Given the description of an element on the screen output the (x, y) to click on. 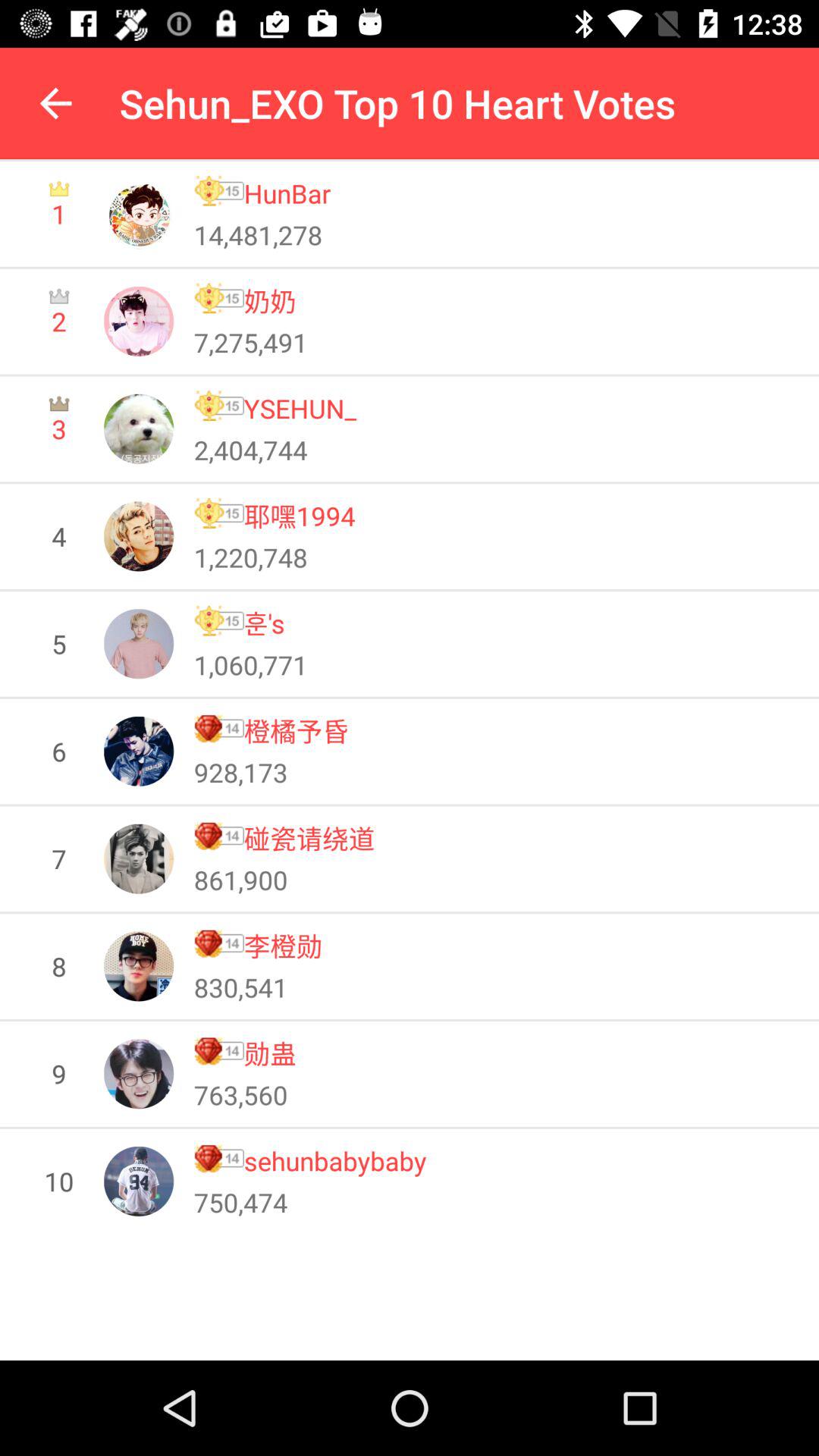
launch 7,275,491 (250, 342)
